Given the description of an element on the screen output the (x, y) to click on. 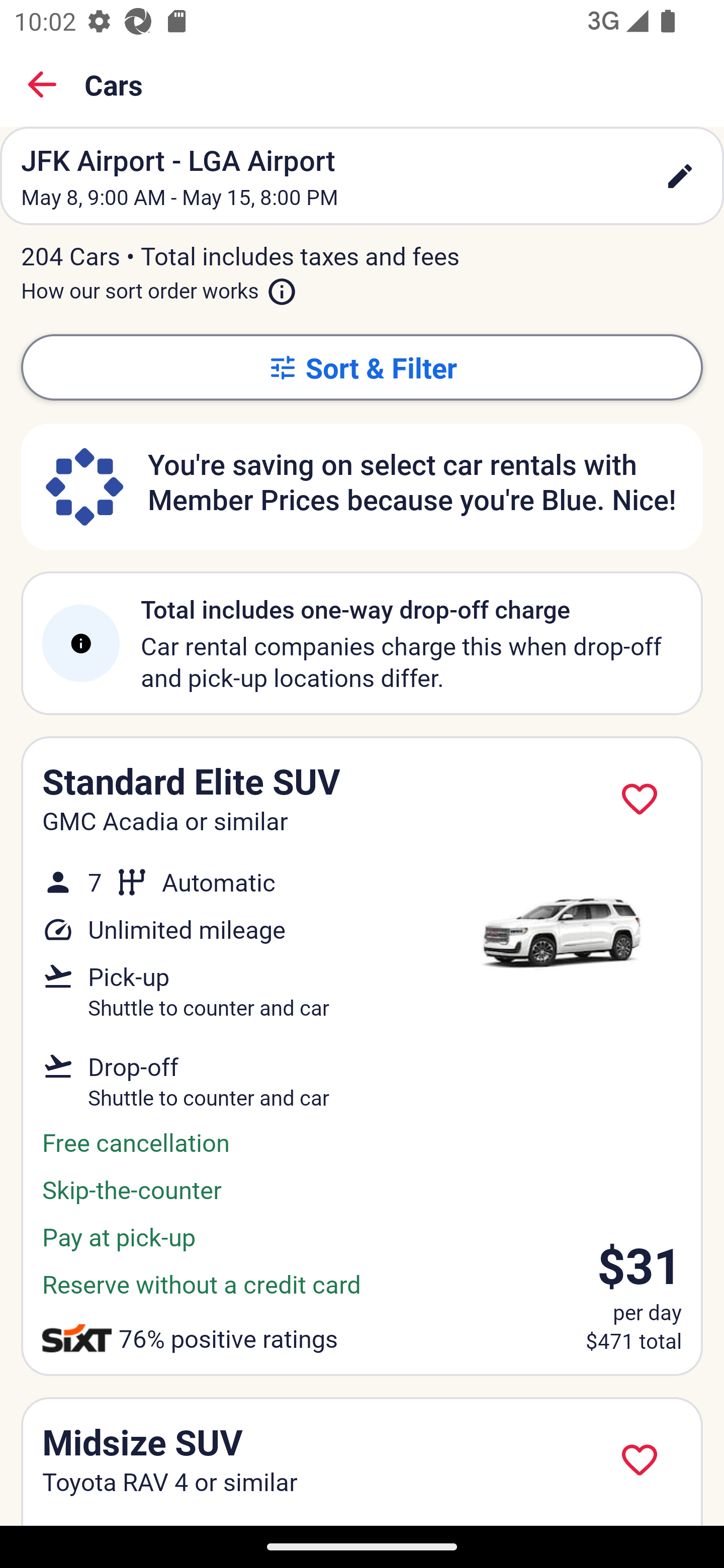
Back (42, 84)
edit (679, 175)
How our sort order works (158, 286)
Sort & Filter (361, 366)
